Given the description of an element on the screen output the (x, y) to click on. 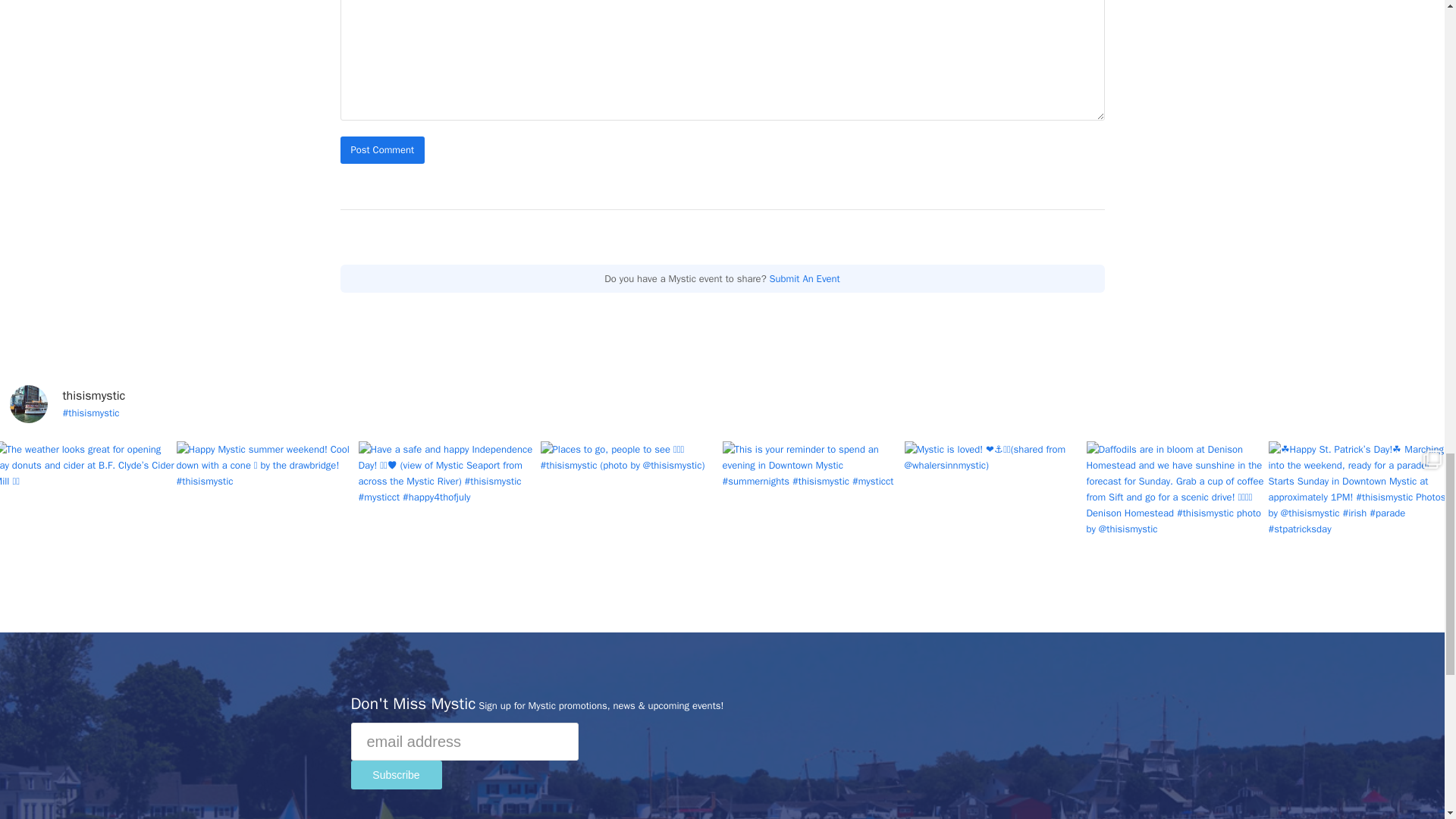
Subscribe (395, 774)
Post Comment (382, 149)
Submit an Event (805, 278)
